Given the description of an element on the screen output the (x, y) to click on. 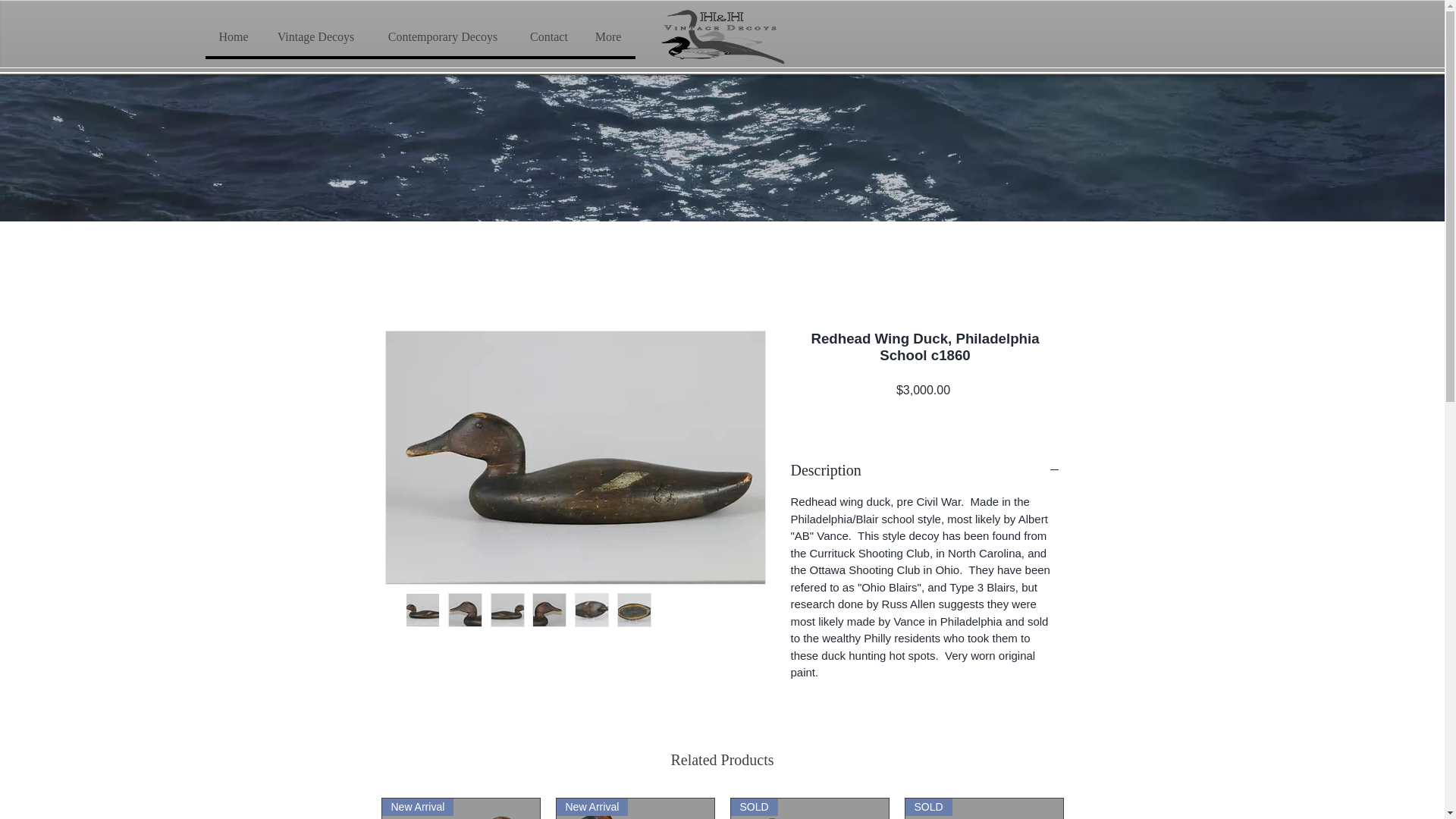
Home (233, 37)
SOLD (809, 808)
Contact (547, 37)
Vintage Decoys (315, 37)
Contemporary Decoys (441, 37)
New Arrival (460, 808)
SOLD (983, 808)
New Arrival (635, 808)
Description (924, 469)
